Given the description of an element on the screen output the (x, y) to click on. 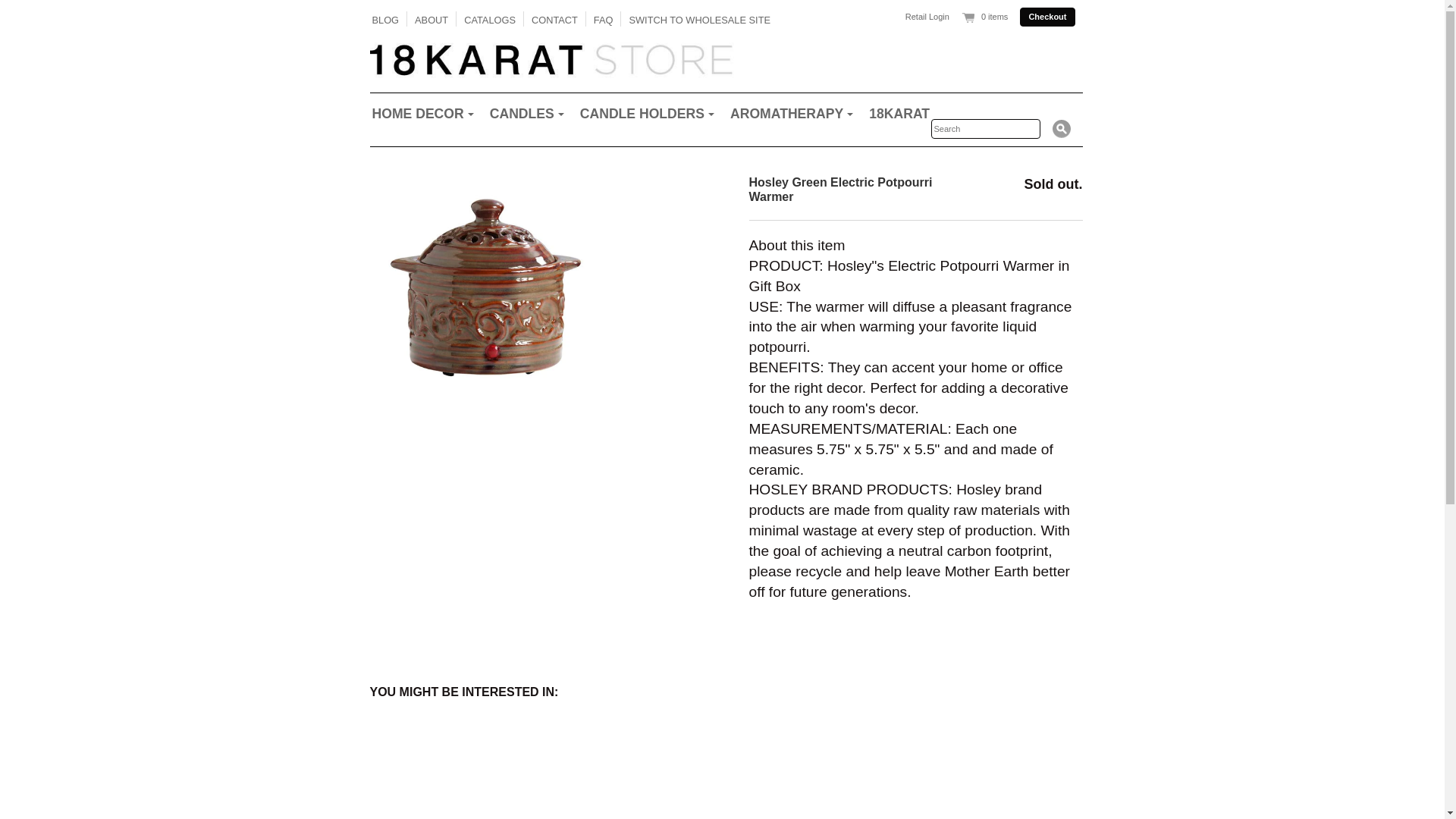
CANDLE HOLDERS Element type: text (646, 113)
SWITCH TO WHOLESALE SITE Element type: text (699, 19)
ABOUT Element type: text (431, 19)
0 items Element type: text (984, 17)
CATALOGS Element type: text (489, 19)
AROMATHERAPY Element type: text (790, 113)
Checkout Element type: text (1046, 16)
Search Element type: text (1061, 128)
BLOG Element type: text (384, 19)
CONTACT Element type: text (554, 19)
CANDLES Element type: text (526, 113)
HOME DECOR Element type: text (422, 113)
18KARAT | Modern Home Decor & Furniture Element type: hover (722, 59)
18KARAT Element type: text (899, 113)
FAQ Element type: text (603, 19)
Retail Login Element type: text (927, 16)
